Given the description of an element on the screen output the (x, y) to click on. 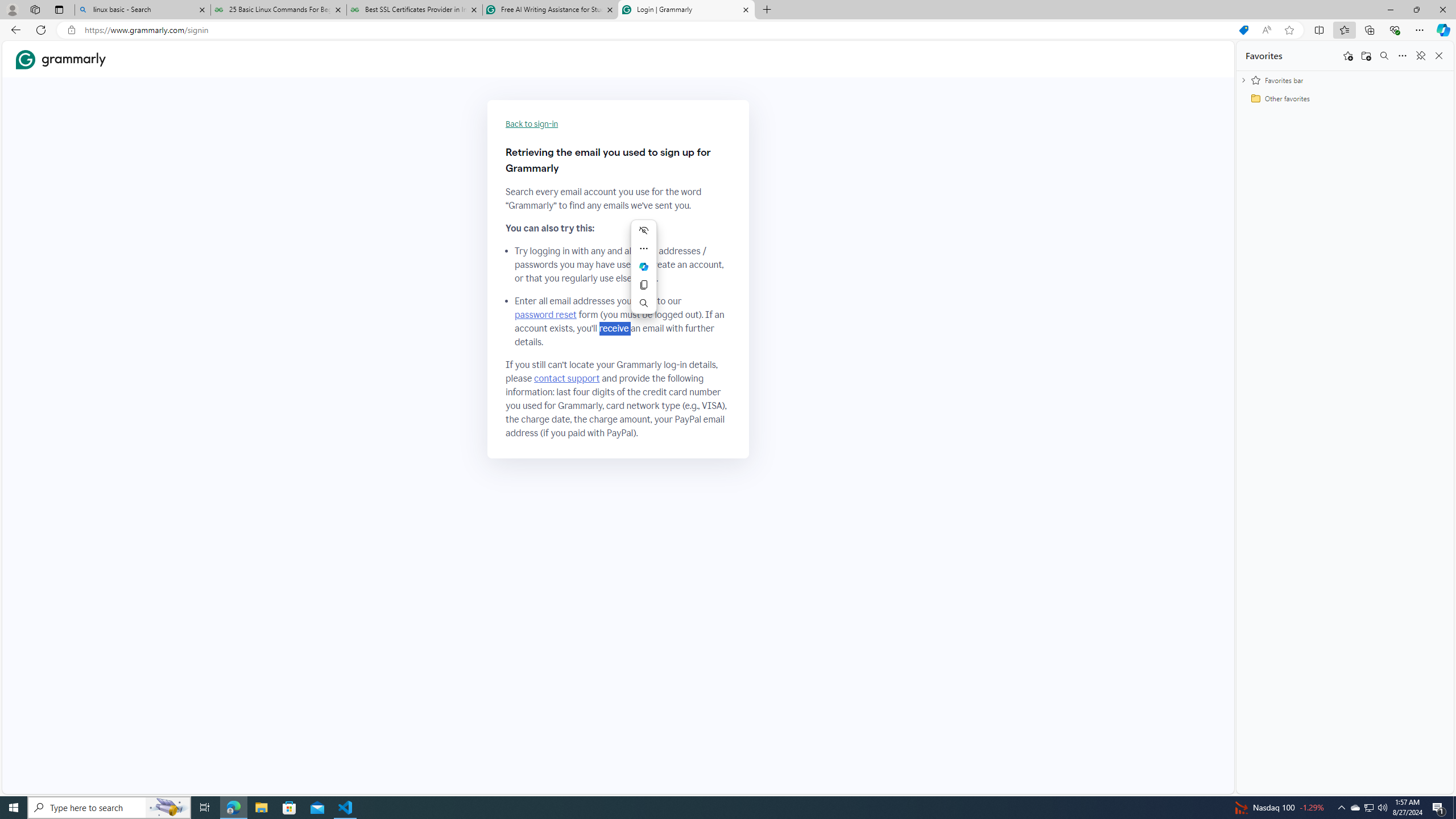
Copy (643, 285)
Unpin favorites (1420, 55)
Search favorites (1383, 55)
Back to sign-in (532, 124)
Add this page to favorites (1347, 55)
Close favorites (1439, 55)
More actions (643, 248)
